Given the description of an element on the screen output the (x, y) to click on. 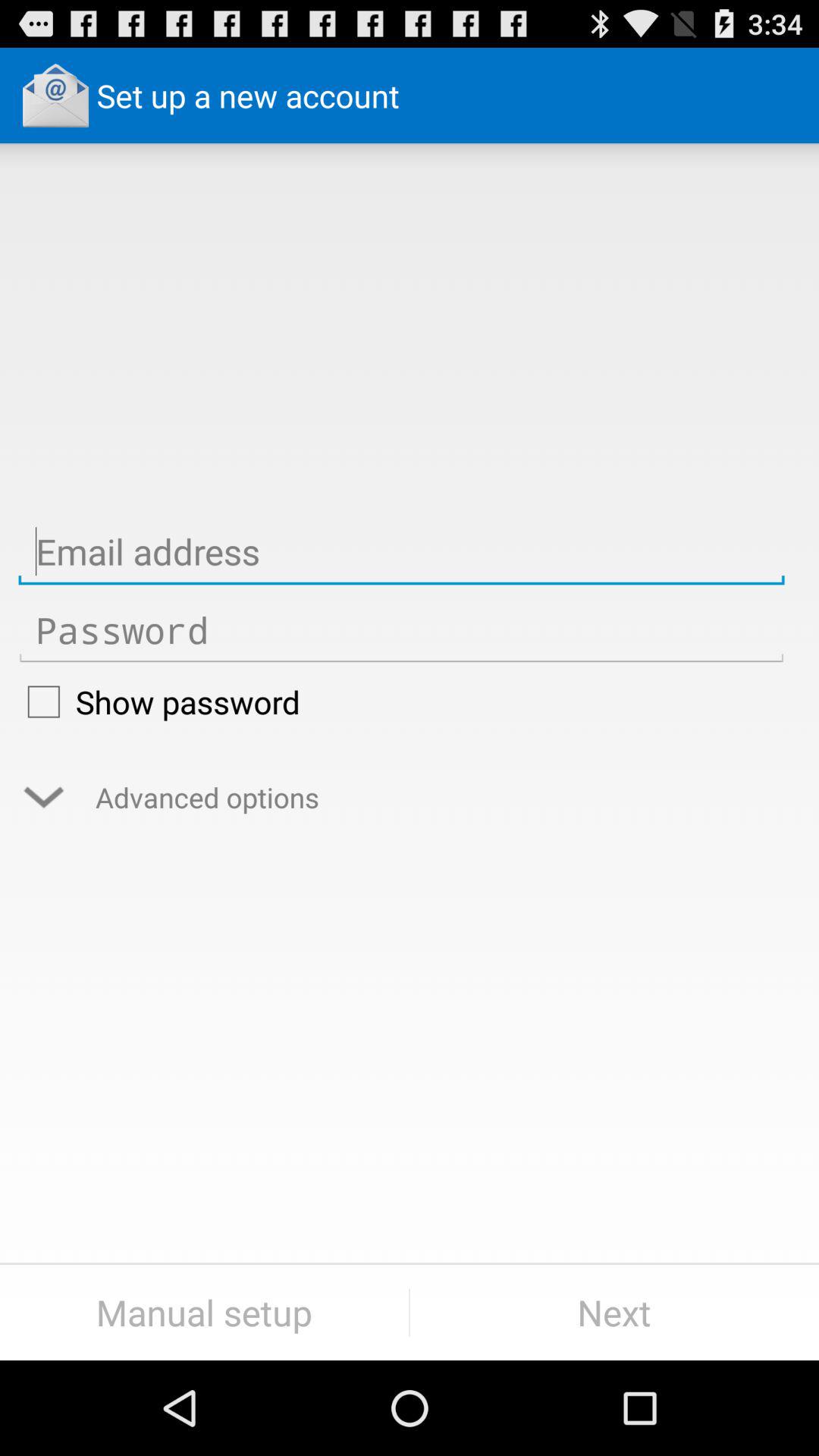
turn off show password icon (401, 701)
